Given the description of an element on the screen output the (x, y) to click on. 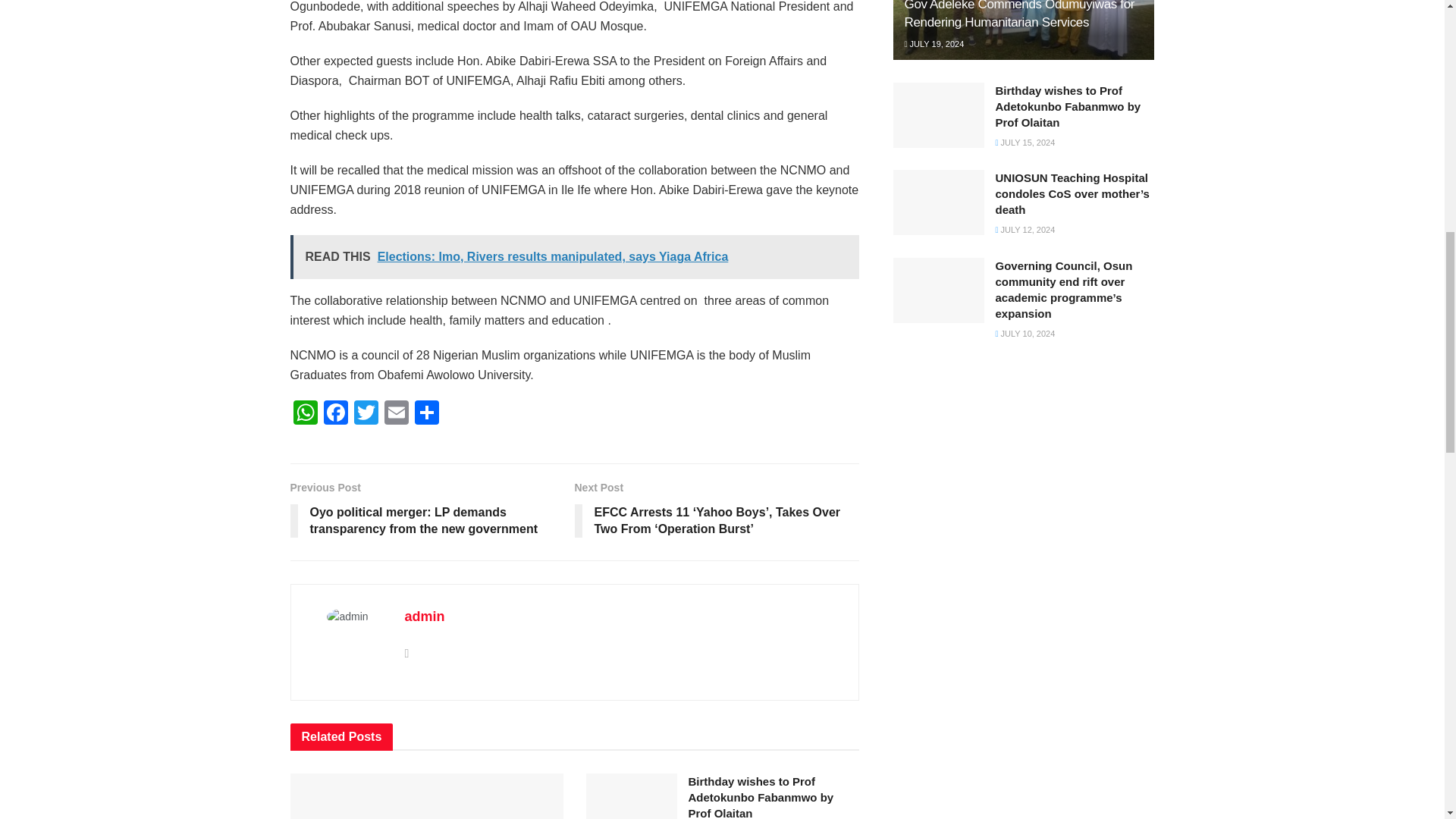
Facebook (335, 414)
Twitter (365, 414)
WhatsApp (304, 414)
Email (395, 414)
